Given the description of an element on the screen output the (x, y) to click on. 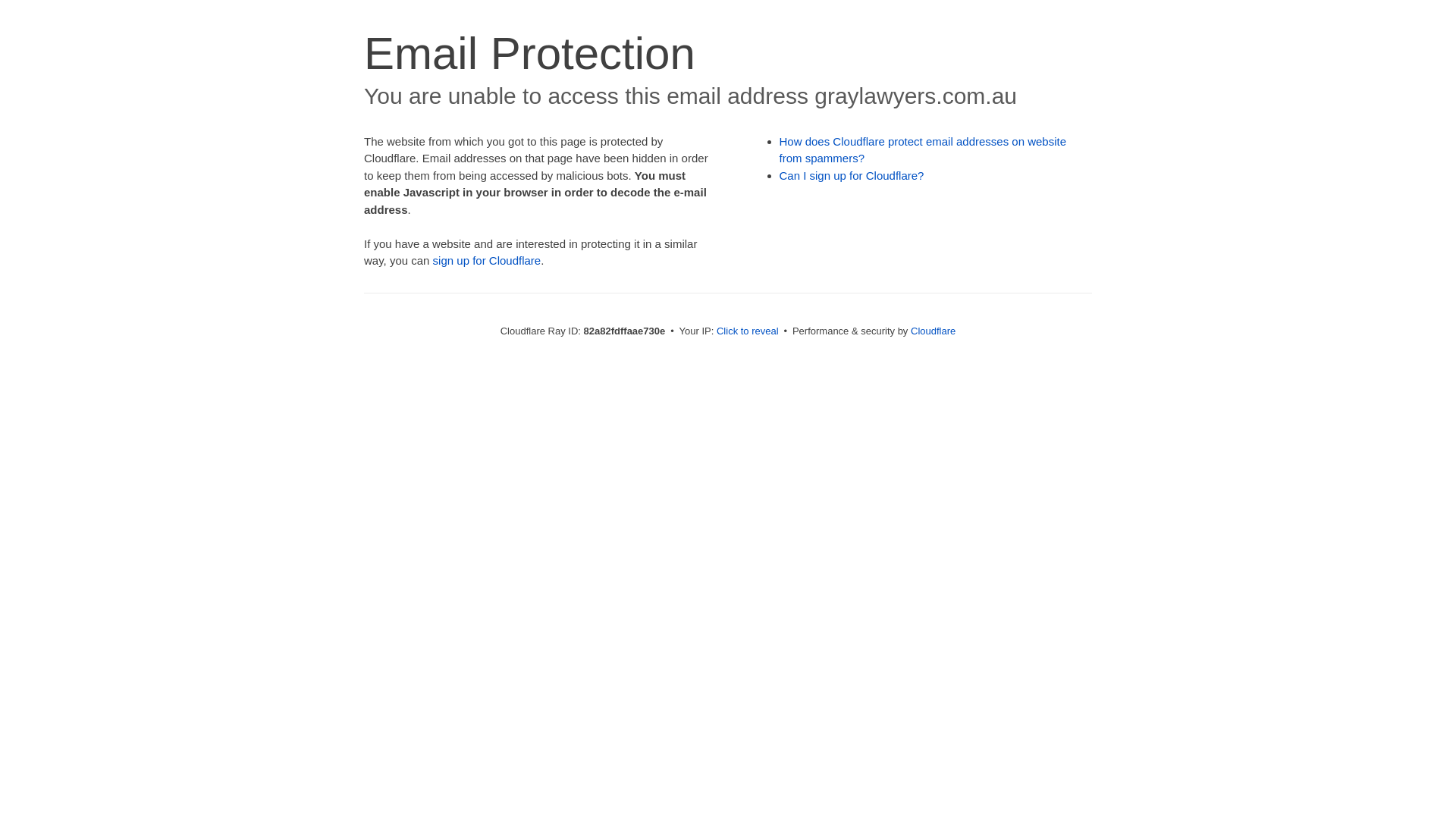
sign up for Cloudflare Element type: text (487, 260)
Can I sign up for Cloudflare? Element type: text (851, 175)
Click to reveal Element type: text (747, 330)
Cloudflare Element type: text (932, 330)
